Given the description of an element on the screen output the (x, y) to click on. 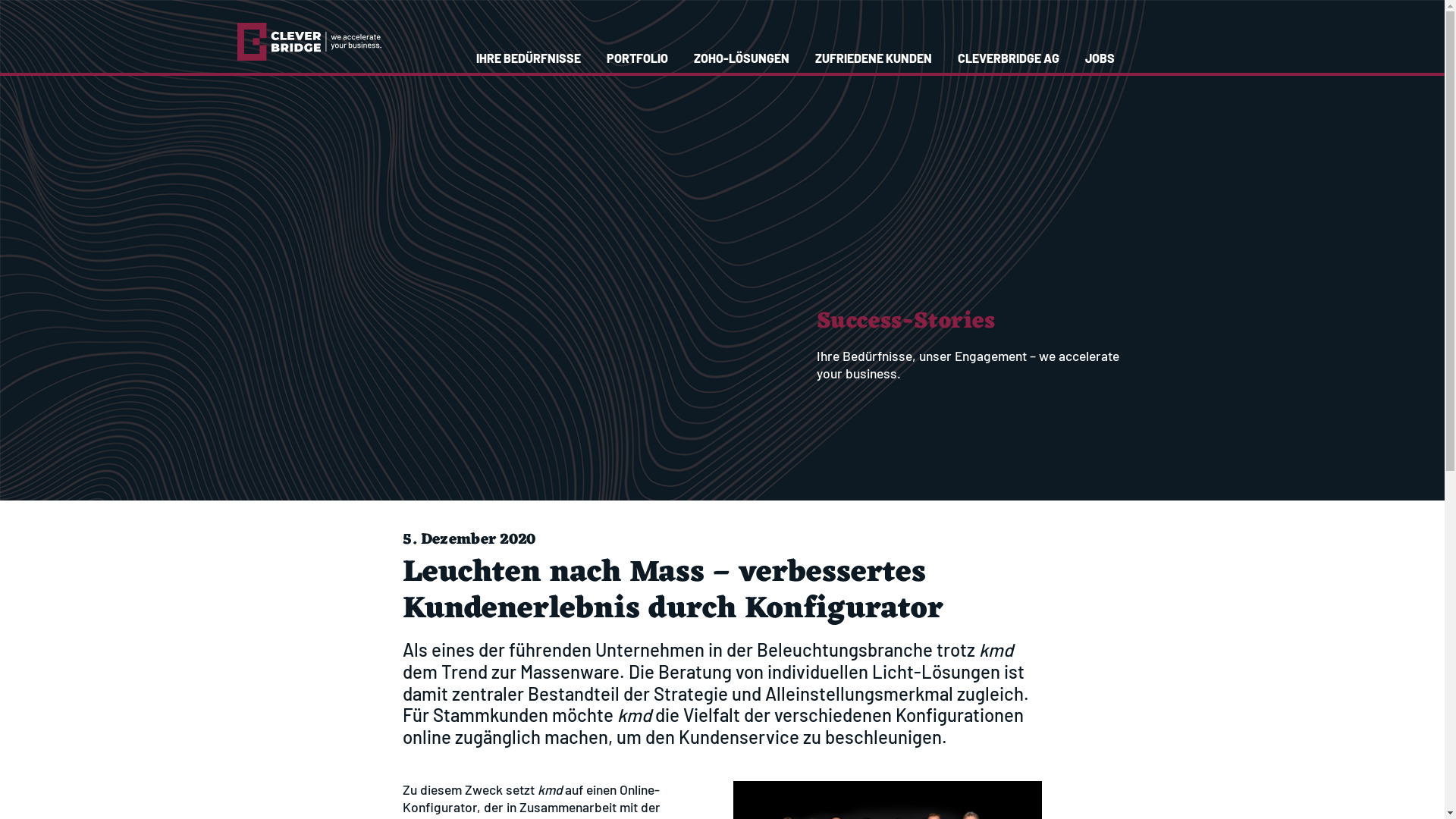
JOBS Element type: text (1099, 57)
PORTFOLIO Element type: text (636, 57)
ZUFRIEDENE KUNDEN Element type: text (873, 57)
CLEVERBRIDGE AG Element type: text (1008, 57)
